Given the description of an element on the screen output the (x, y) to click on. 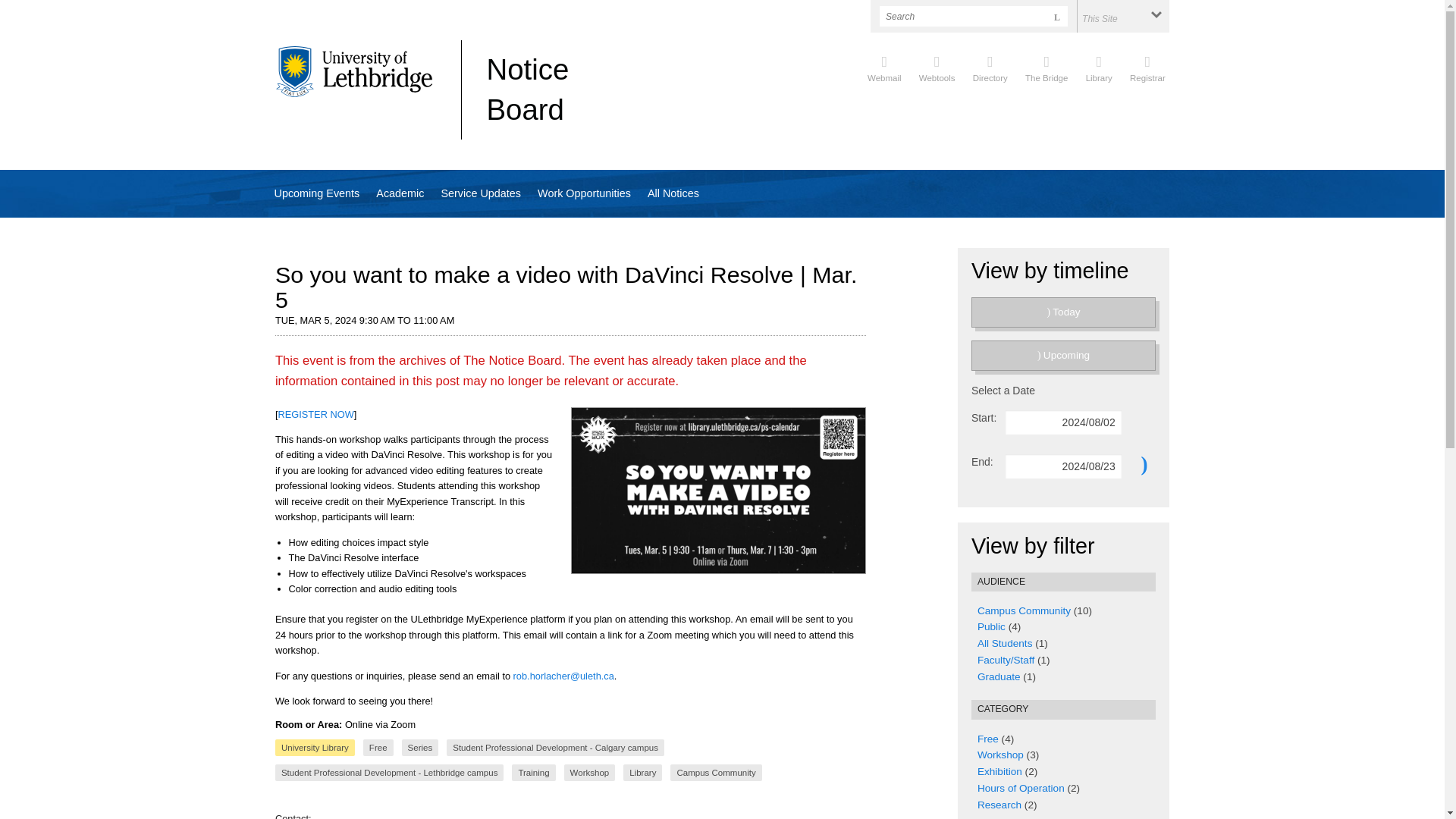
All Notices (673, 193)
Upcoming Events (316, 193)
All Students (1004, 643)
Today (1063, 312)
Registrar (1147, 66)
Exhibition (999, 771)
L (1056, 15)
Free (987, 738)
Graduate (998, 676)
Directory (989, 66)
